Given the description of an element on the screen output the (x, y) to click on. 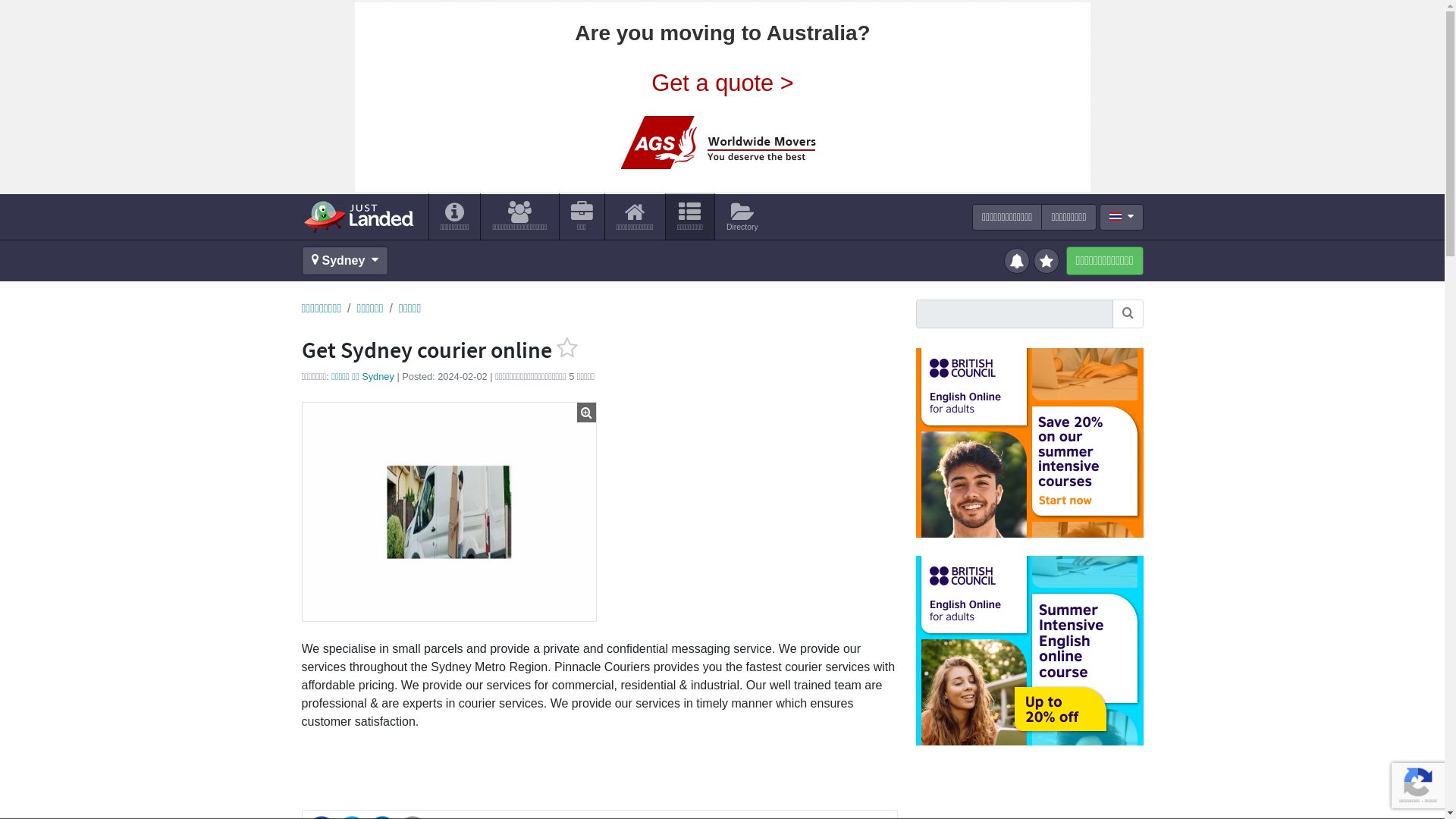
Alerts (1018, 259)
Sydney (344, 260)
Thai (1114, 216)
Just Landed (357, 216)
Directory (742, 216)
Change location (344, 260)
Just Landed (357, 216)
